Given the description of an element on the screen output the (x, y) to click on. 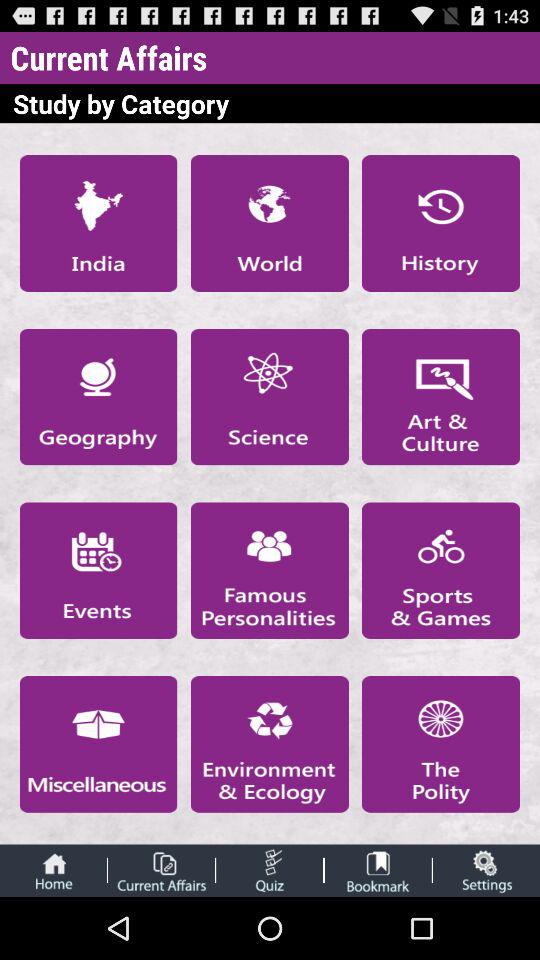
open geography category (98, 396)
